Given the description of an element on the screen output the (x, y) to click on. 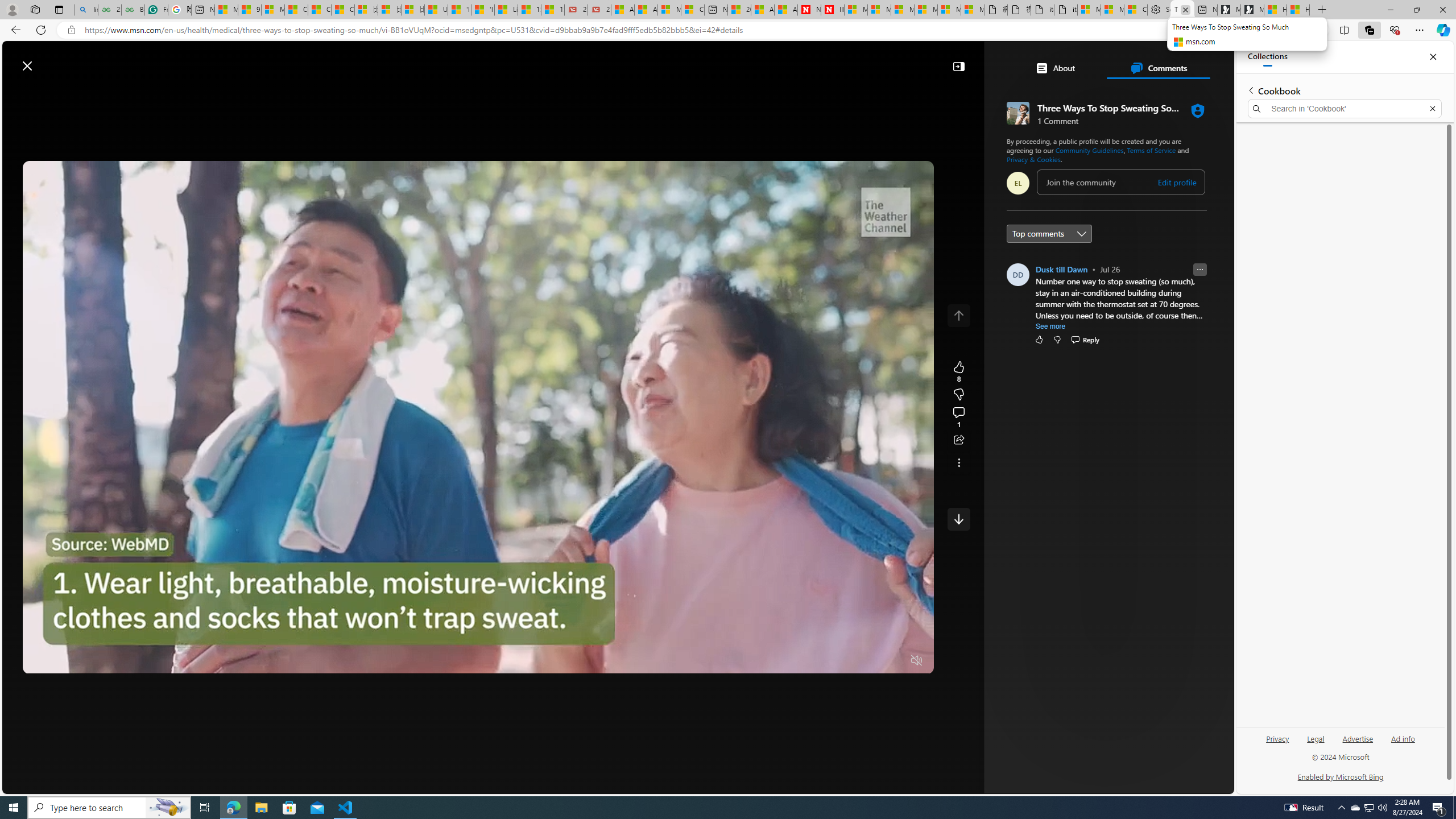
Community Guidelines (1089, 149)
How to Use a TV as a Computer Monitor (1297, 9)
oceanbluemarine (1088, 249)
